Given the description of an element on the screen output the (x, y) to click on. 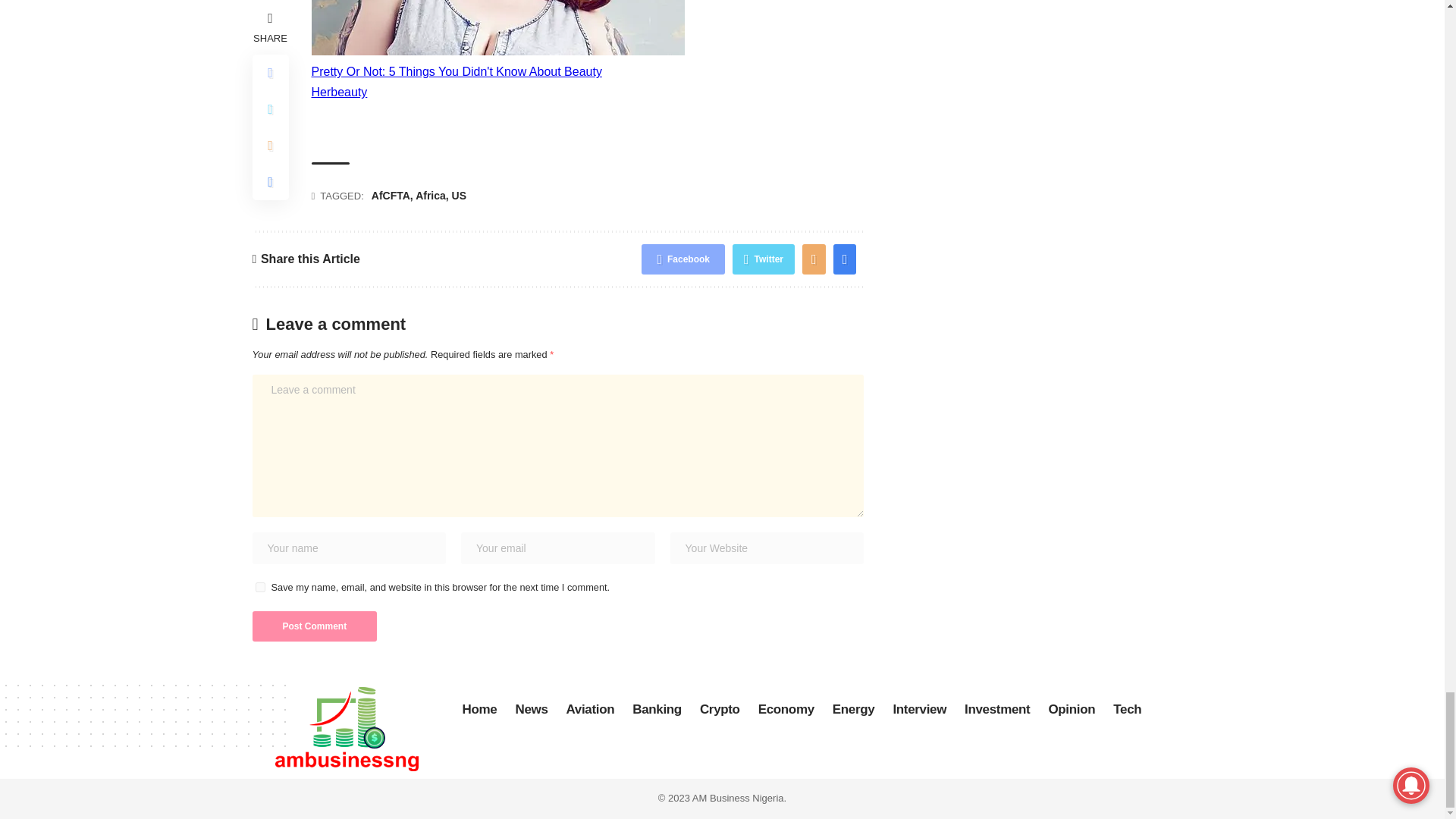
yes (259, 587)
Post Comment (314, 625)
